Given the description of an element on the screen output the (x, y) to click on. 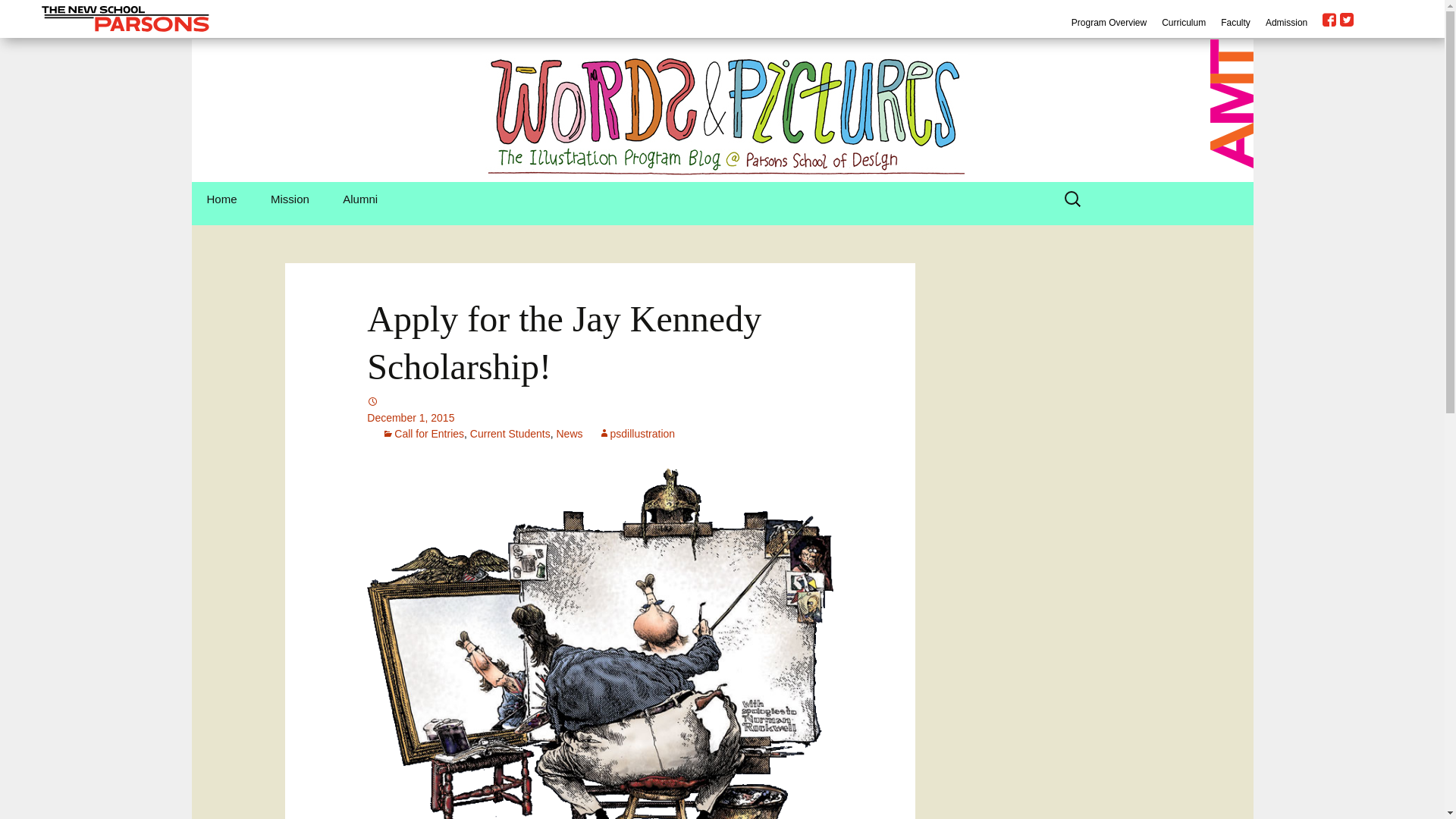
Alumni (360, 198)
December 1, 2015 (599, 417)
Current Students (510, 433)
Home (220, 198)
Permalink to Apply for the Jay Kennedy Scholarship! (599, 417)
Call for Entries (422, 433)
View all posts by psdillustration (635, 433)
Search (18, 15)
Faculty (1235, 22)
Search (31, 13)
psdillustration (635, 433)
Mission (290, 198)
Admission (1286, 22)
News (569, 433)
